Given the description of an element on the screen output the (x, y) to click on. 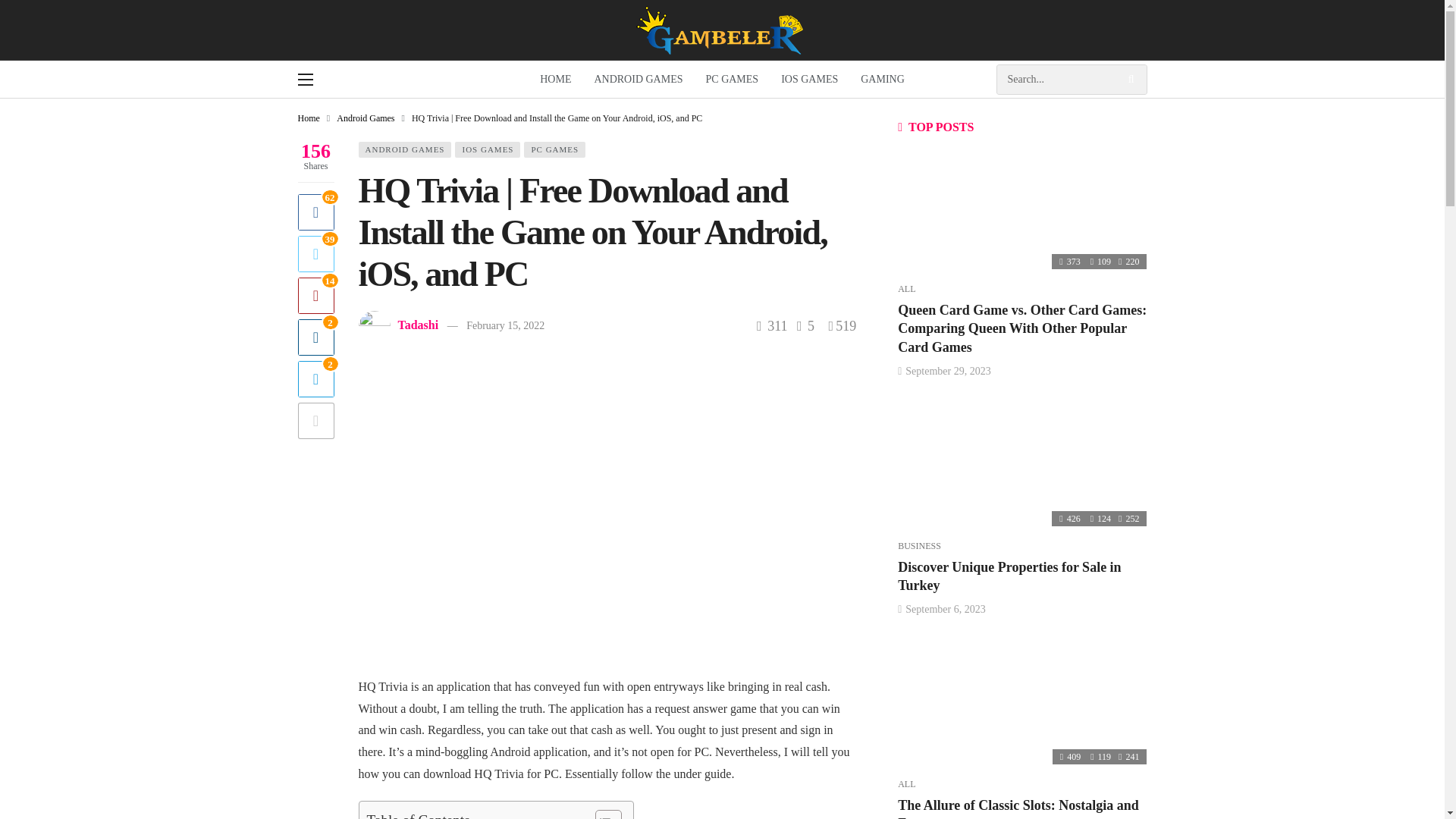
PC GAMES (732, 79)
ANDROID GAMES (404, 149)
Home (307, 117)
2 (315, 337)
2 (315, 379)
PC GAMES (554, 149)
HOME (555, 79)
ANDROID GAMES (638, 79)
62 (315, 212)
IOS GAMES (486, 149)
February 15, 2022 (504, 325)
GAMING (881, 79)
14 (315, 295)
311 (772, 326)
